Given the description of an element on the screen output the (x, y) to click on. 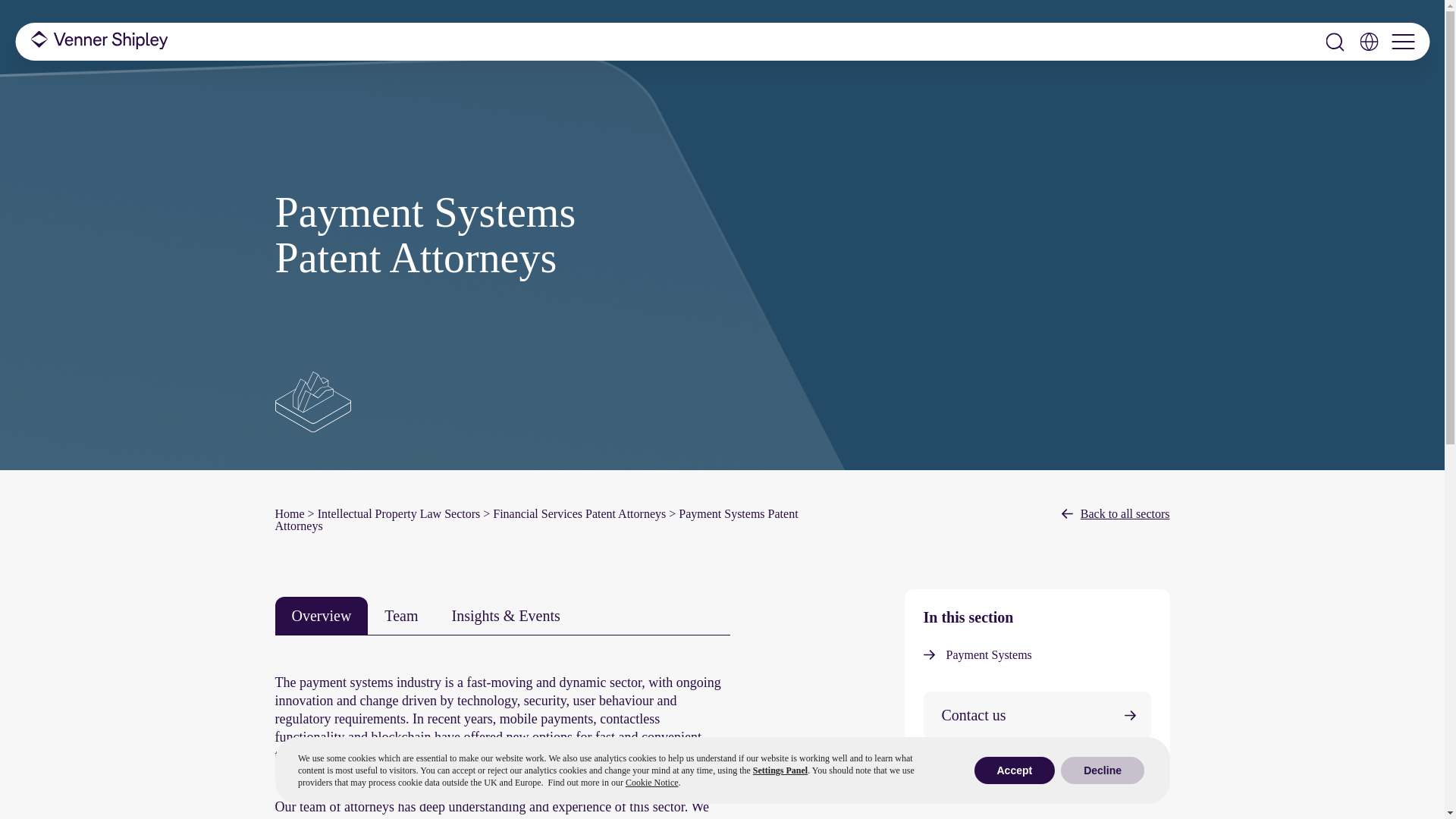
Venner Shipley (98, 41)
